Given the description of an element on the screen output the (x, y) to click on. 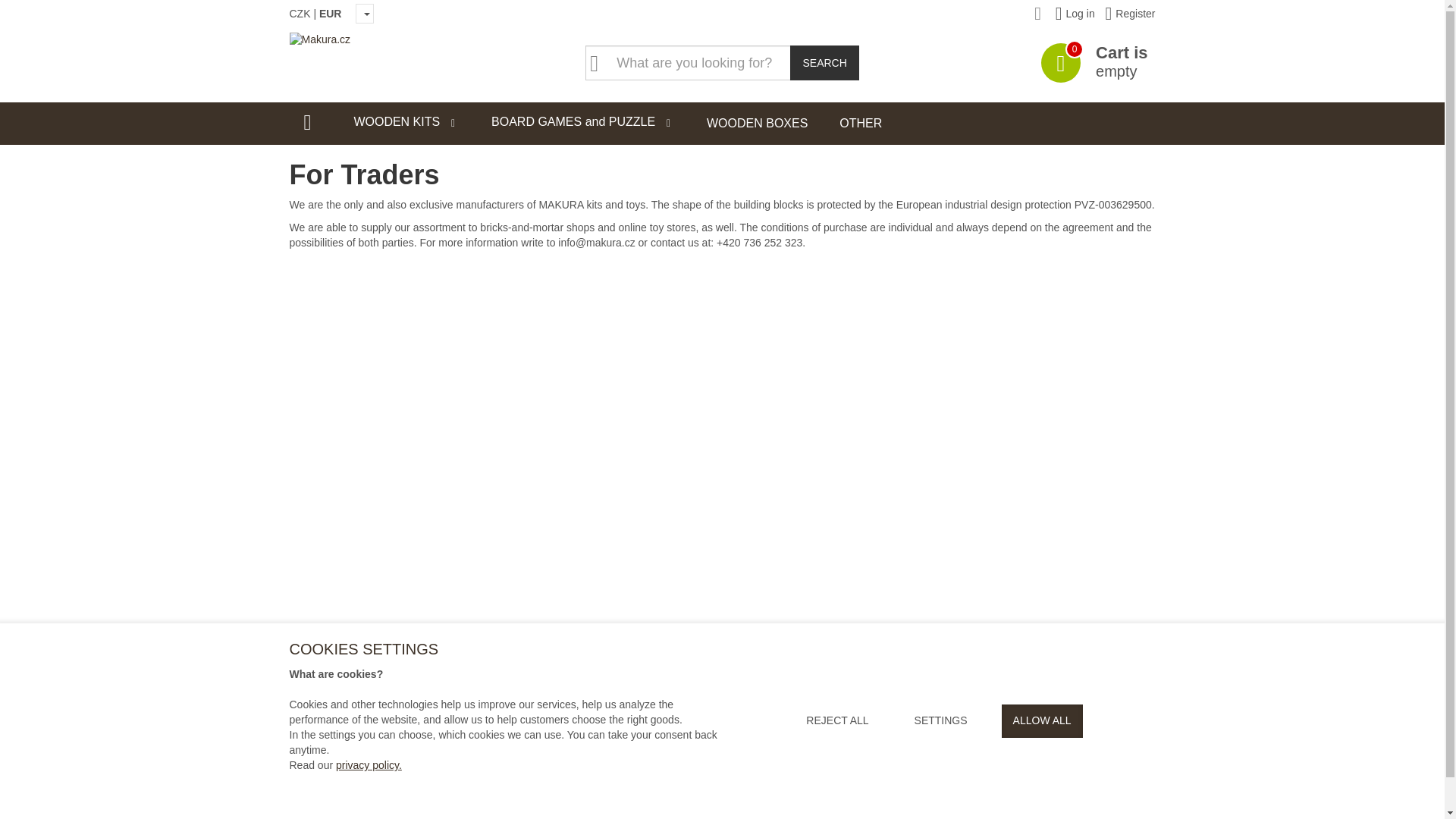
WOODEN KITS (405, 122)
EUR (330, 13)
CZK (300, 13)
BOARD GAMES and PUZZLE (582, 122)
Search (824, 62)
Log in (1074, 13)
Register (1130, 13)
Search (824, 62)
